Given the description of an element on the screen output the (x, y) to click on. 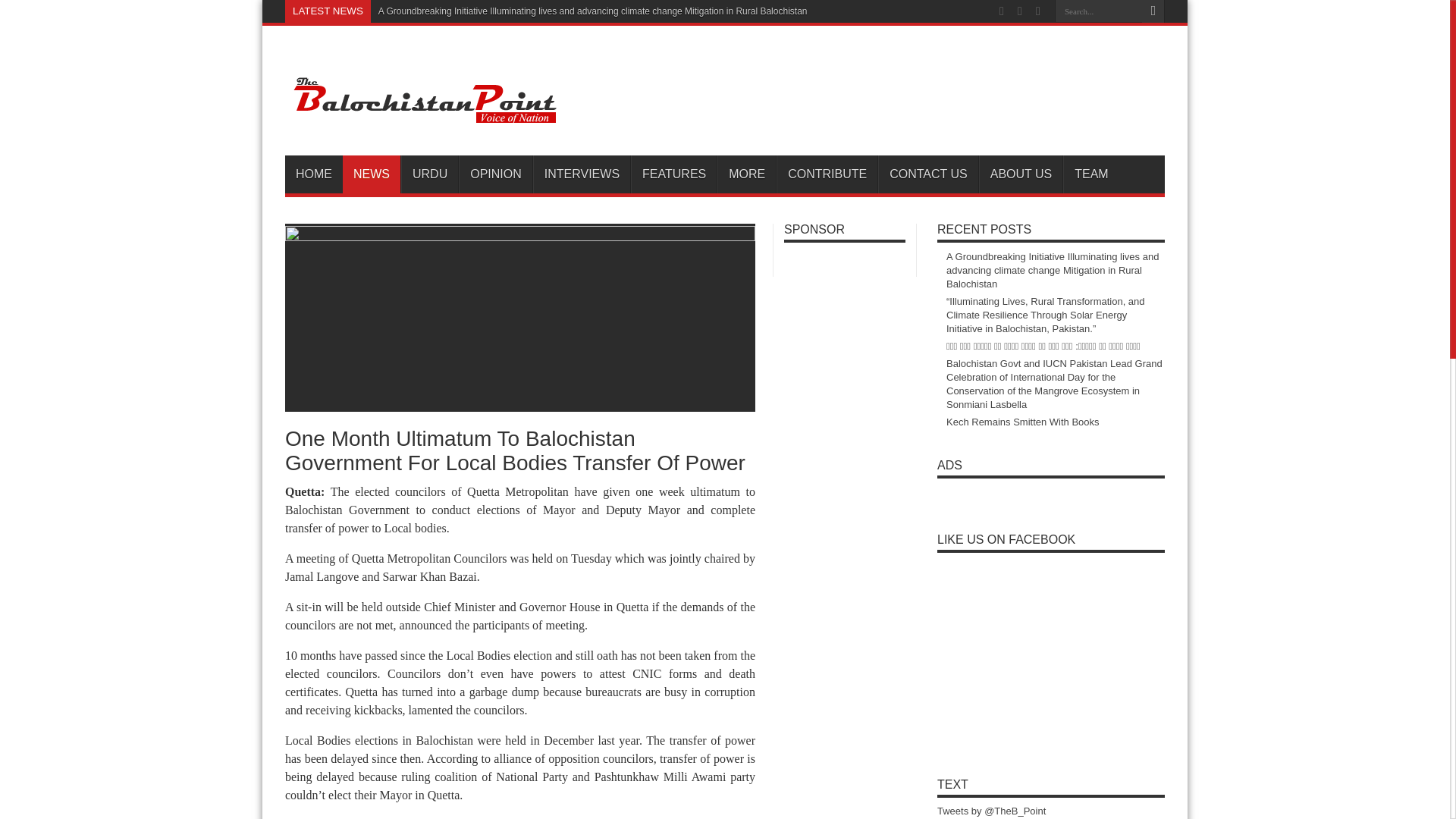
Search... (1097, 11)
INTERVIEWS (581, 174)
OPINION (495, 174)
Search (1152, 11)
FEATURES (673, 174)
URDU (429, 174)
HOME (313, 174)
NEWS (371, 174)
